Given the description of an element on the screen output the (x, y) to click on. 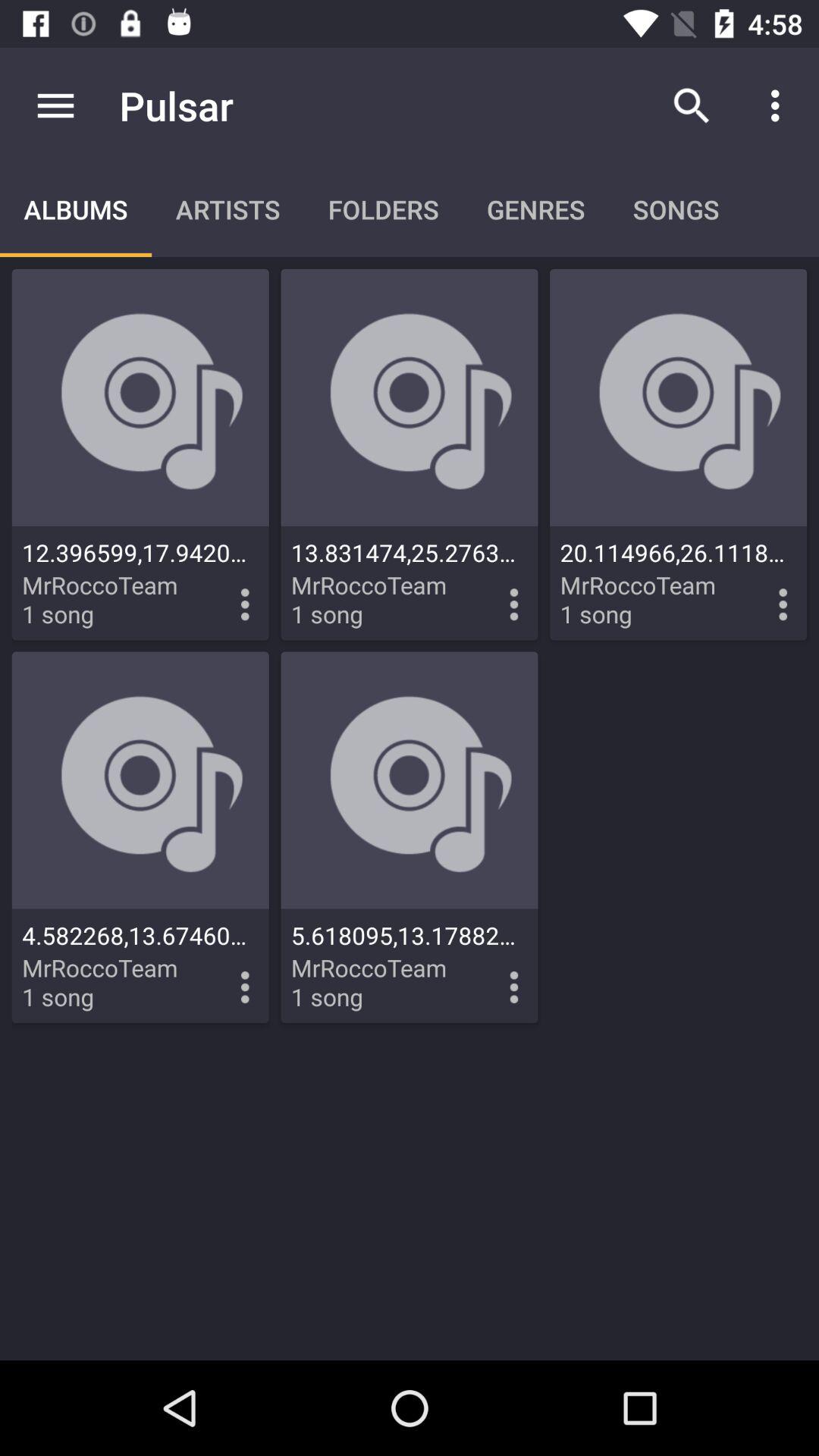
turn off the icon above the albums item (55, 105)
